Given the description of an element on the screen output the (x, y) to click on. 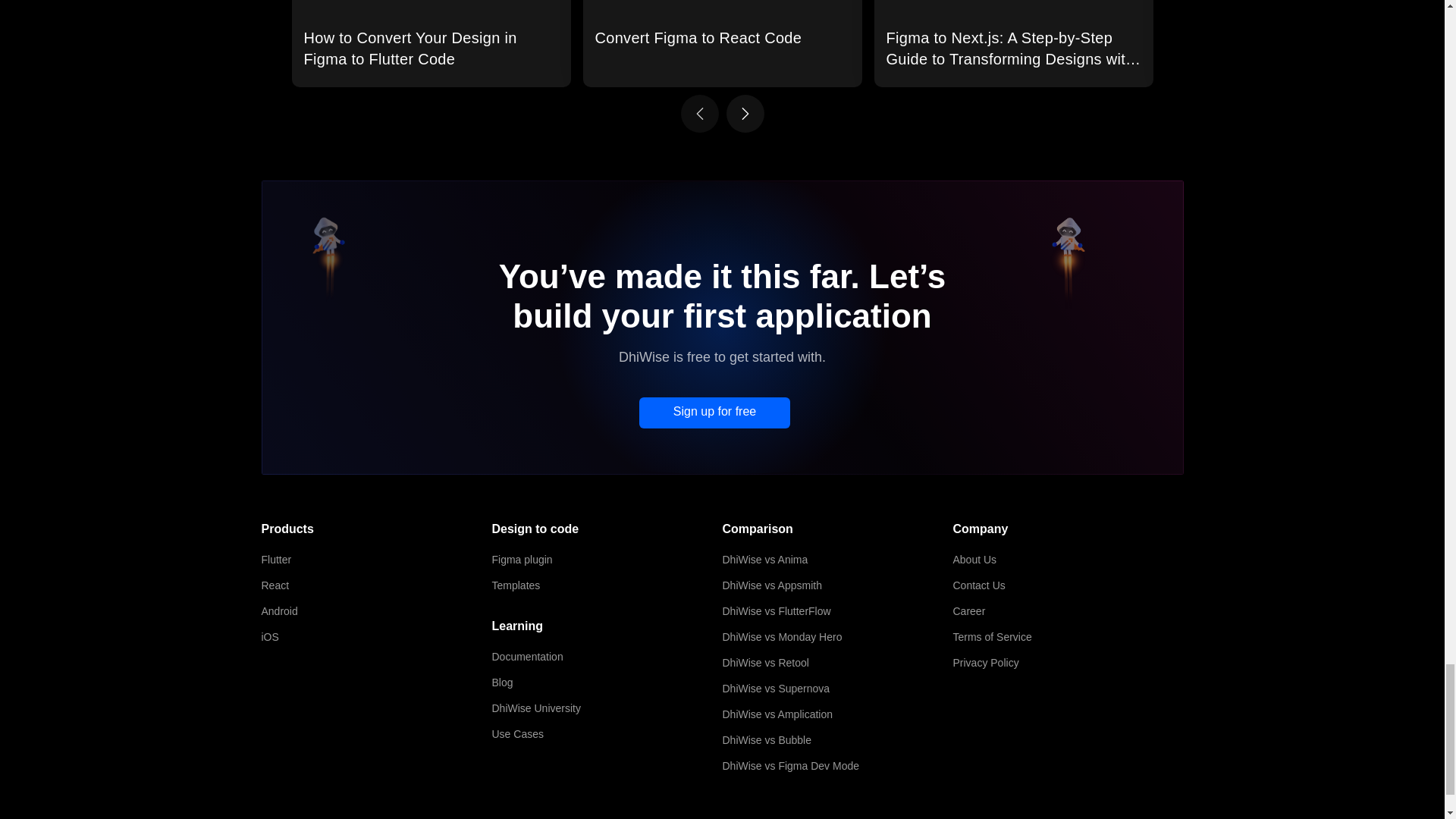
How to Convert Your Design in Figma to Flutter Code (430, 43)
Convert Figma to React Code (721, 43)
